Given the description of an element on the screen output the (x, y) to click on. 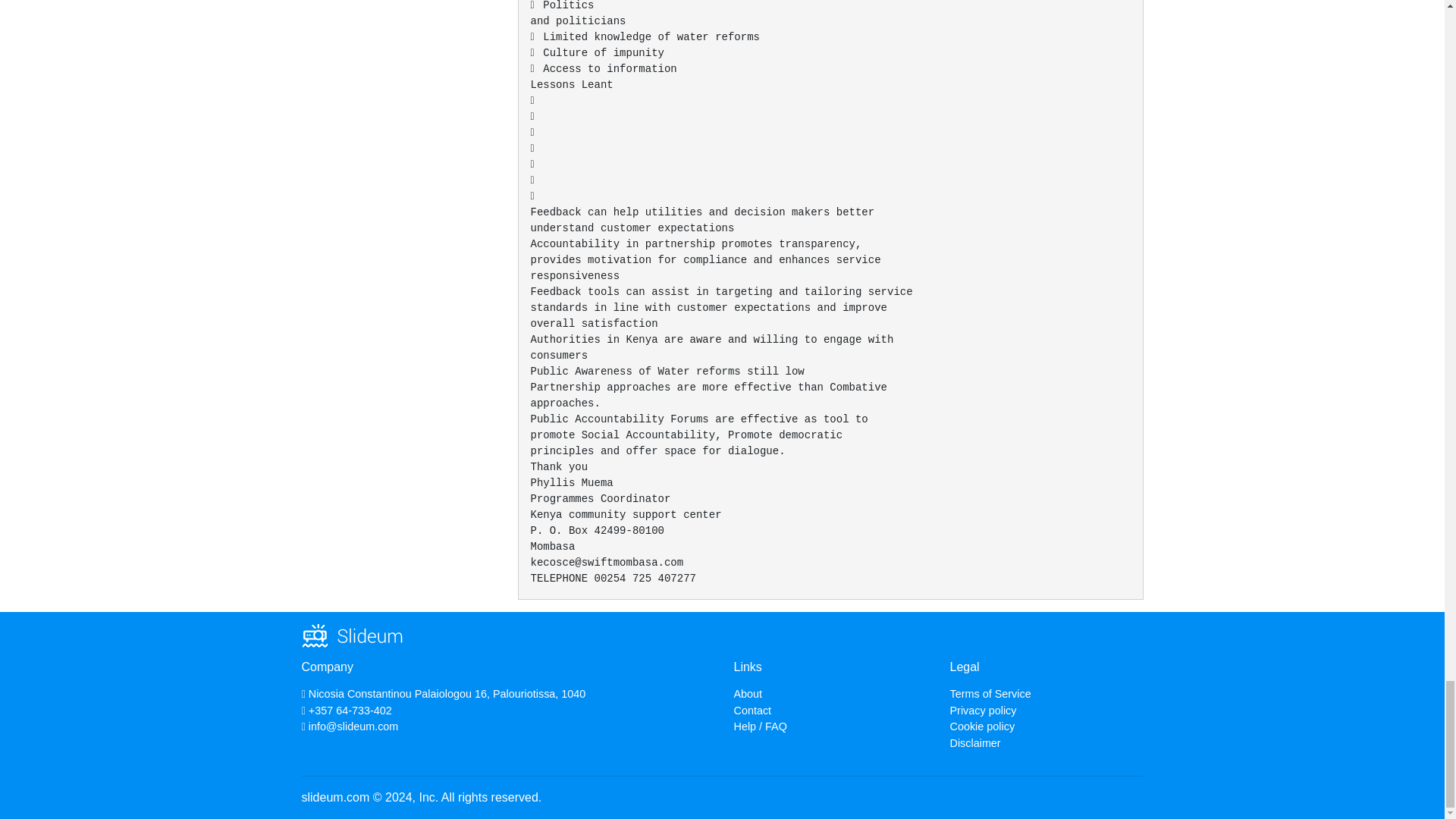
Disclaimer (974, 743)
Terms of Service (989, 693)
Cookie policy (981, 726)
About (747, 693)
Contact (752, 710)
Privacy policy (982, 710)
